Given the description of an element on the screen output the (x, y) to click on. 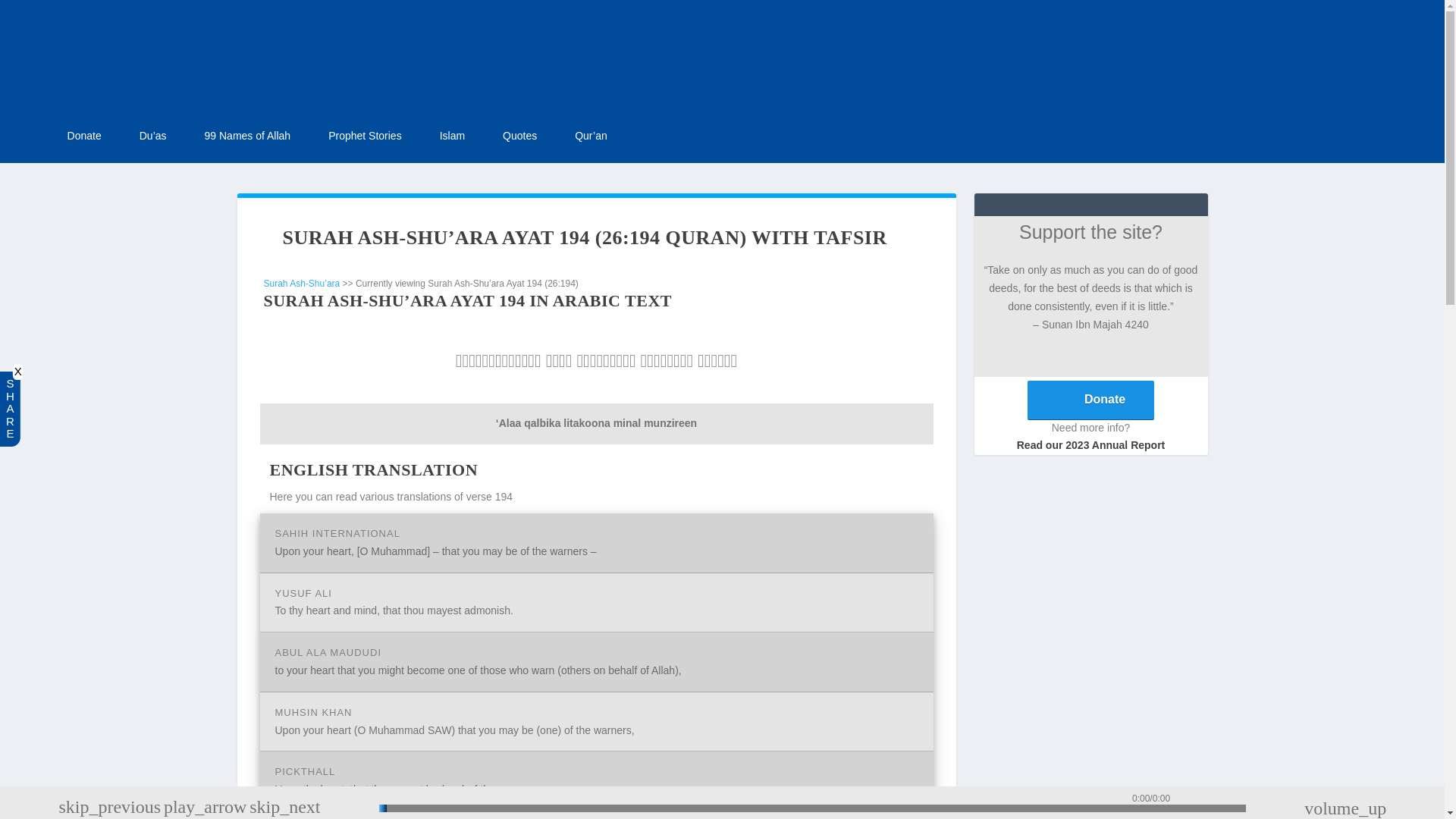
Quotes (519, 136)
Islam (451, 136)
Prophet Stories (365, 136)
Donate (83, 136)
99 Names of Allah (248, 136)
